Given the description of an element on the screen output the (x, y) to click on. 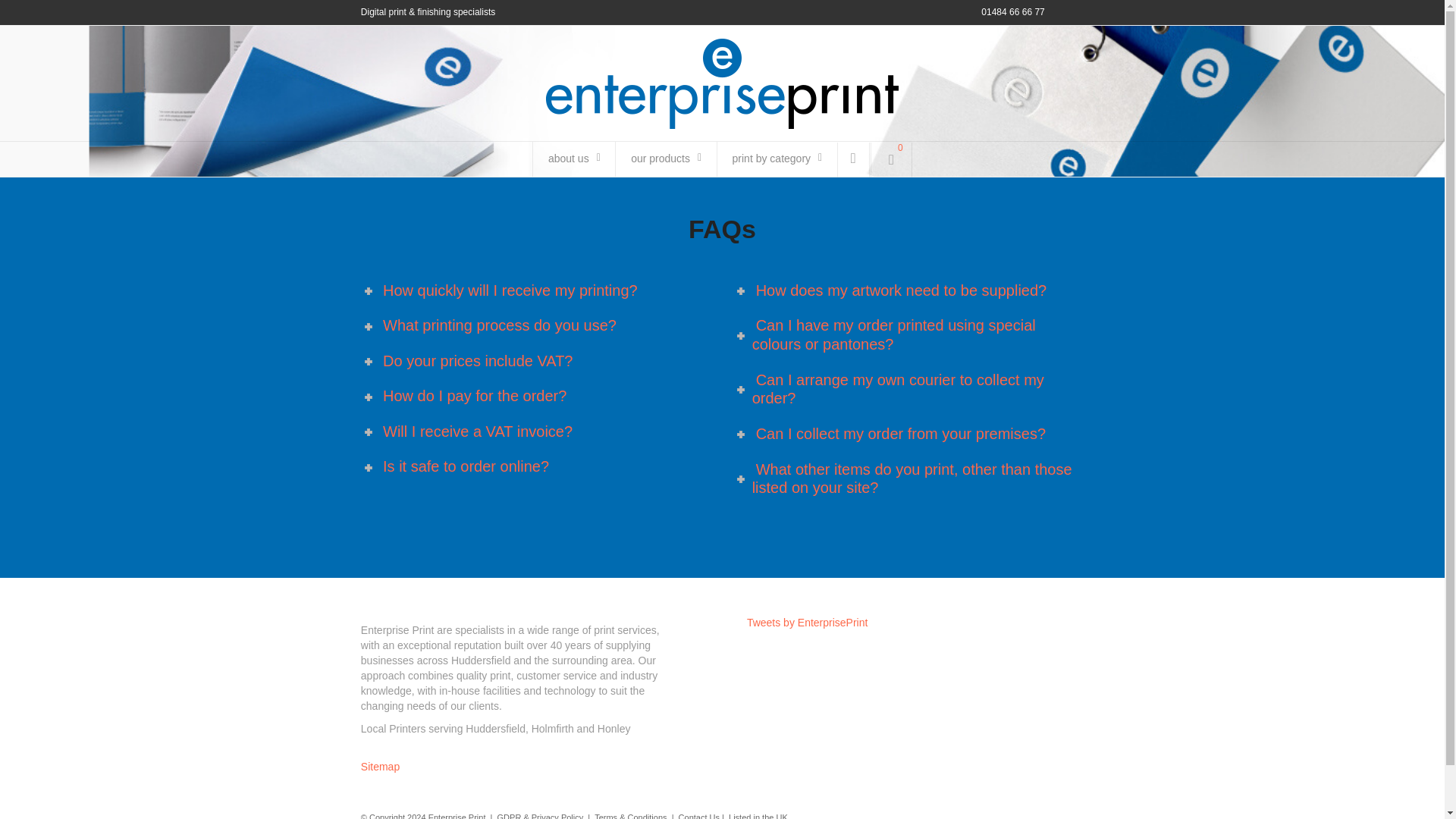
Tweets by EnterprisePrint (806, 622)
our products (664, 158)
Sitemap (379, 766)
0 (891, 159)
01484 66 66 77 (1012, 12)
My Account (853, 159)
print by category (775, 158)
about us (571, 158)
